Given the description of an element on the screen output the (x, y) to click on. 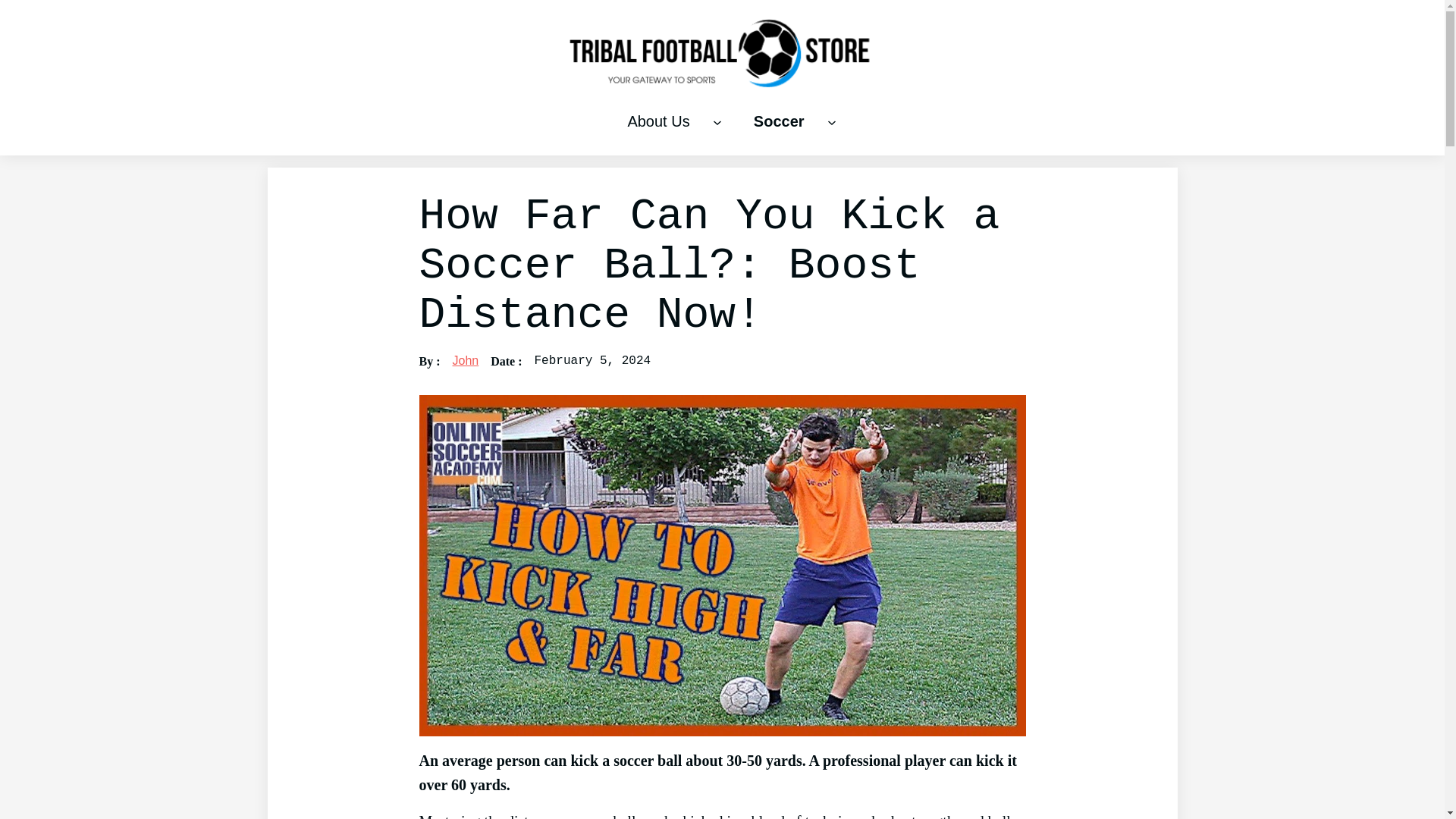
John (465, 359)
About Us (658, 121)
Soccer (778, 121)
